Given the description of an element on the screen output the (x, y) to click on. 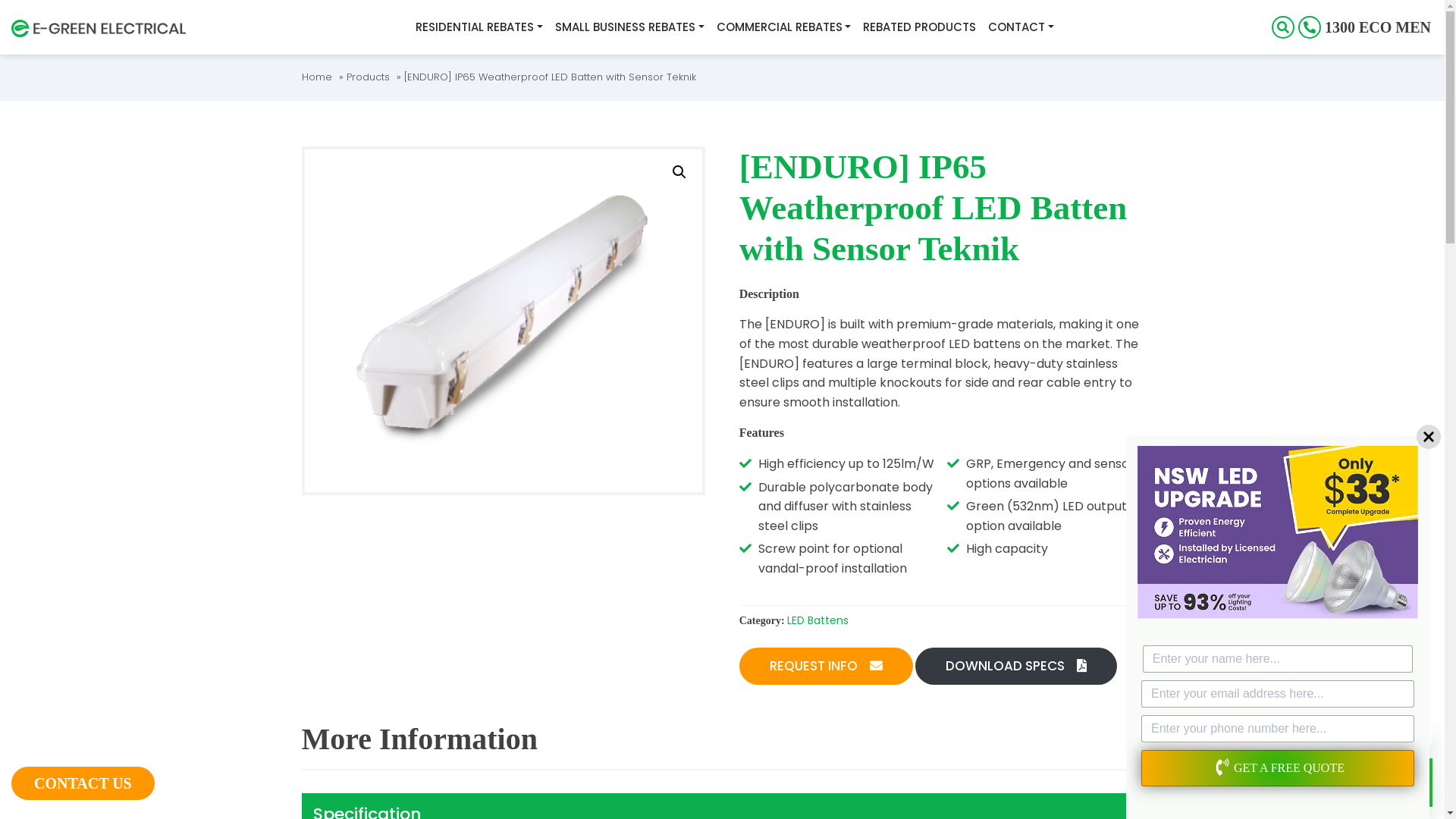
Products Element type: text (367, 77)
1300 ECO MEN Element type: text (1364, 26)
Home Element type: text (316, 77)
SMALL BUSINESS REBATES Element type: text (629, 27)
REBATED PRODUCTS Element type: text (919, 27)
Close message Element type: hover (1278, 736)
Button to launch messaging window Element type: hover (1407, 782)
CONTACT US Element type: text (82, 783)
LED Battens Element type: text (817, 619)
REQUEST INFO Element type: text (826, 666)
COMMERCIAL REBATES Element type: text (782, 27)
[ENDURO] IP65 Weatherproof LED Batten with Sensor Teknik Element type: text (549, 77)
RESIDENTIAL REBATES Element type: text (479, 27)
[ENDURO] WEATHERPROOF LED BATTEN Element type: hover (503, 320)
CONTACT Element type: text (1021, 27)
DOWNLOAD SPECS Element type: text (1016, 666)
Message from company Element type: hover (1365, 735)
